Given the description of an element on the screen output the (x, y) to click on. 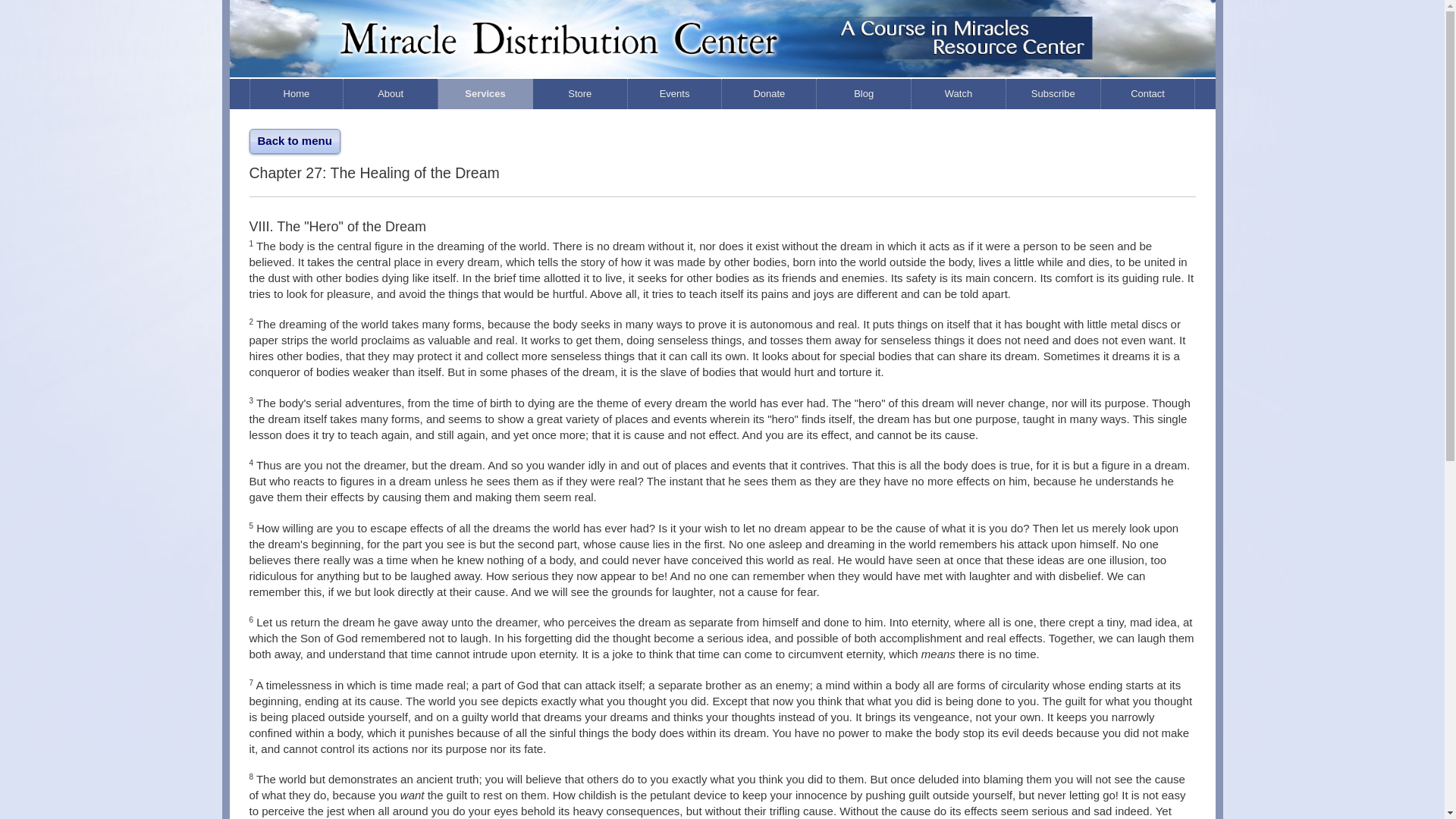
Store (579, 93)
Home (295, 93)
Donate (769, 93)
Events (674, 93)
Skip to primary content (306, 93)
Services (485, 93)
Back to menu (293, 140)
Contact (1147, 93)
Subscribe (1053, 93)
Blog (863, 93)
Skip to secondary content (314, 93)
Miracle Distribution Center (721, 64)
Skip to primary content (306, 93)
Skip to secondary content (314, 93)
About (390, 93)
